Given the description of an element on the screen output the (x, y) to click on. 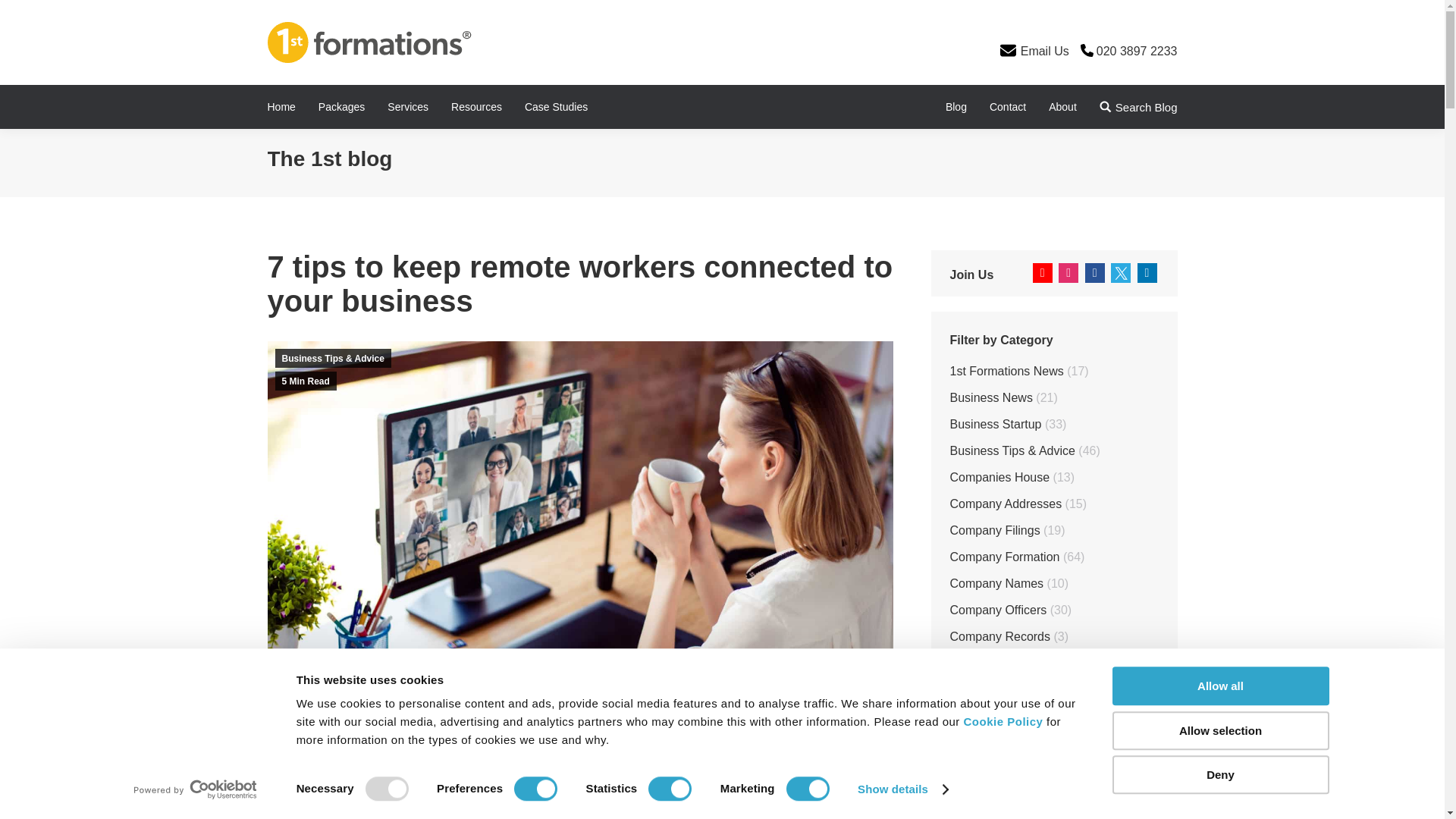
Show details (902, 789)
Cookie Policy (1003, 721)
